Given the description of an element on the screen output the (x, y) to click on. 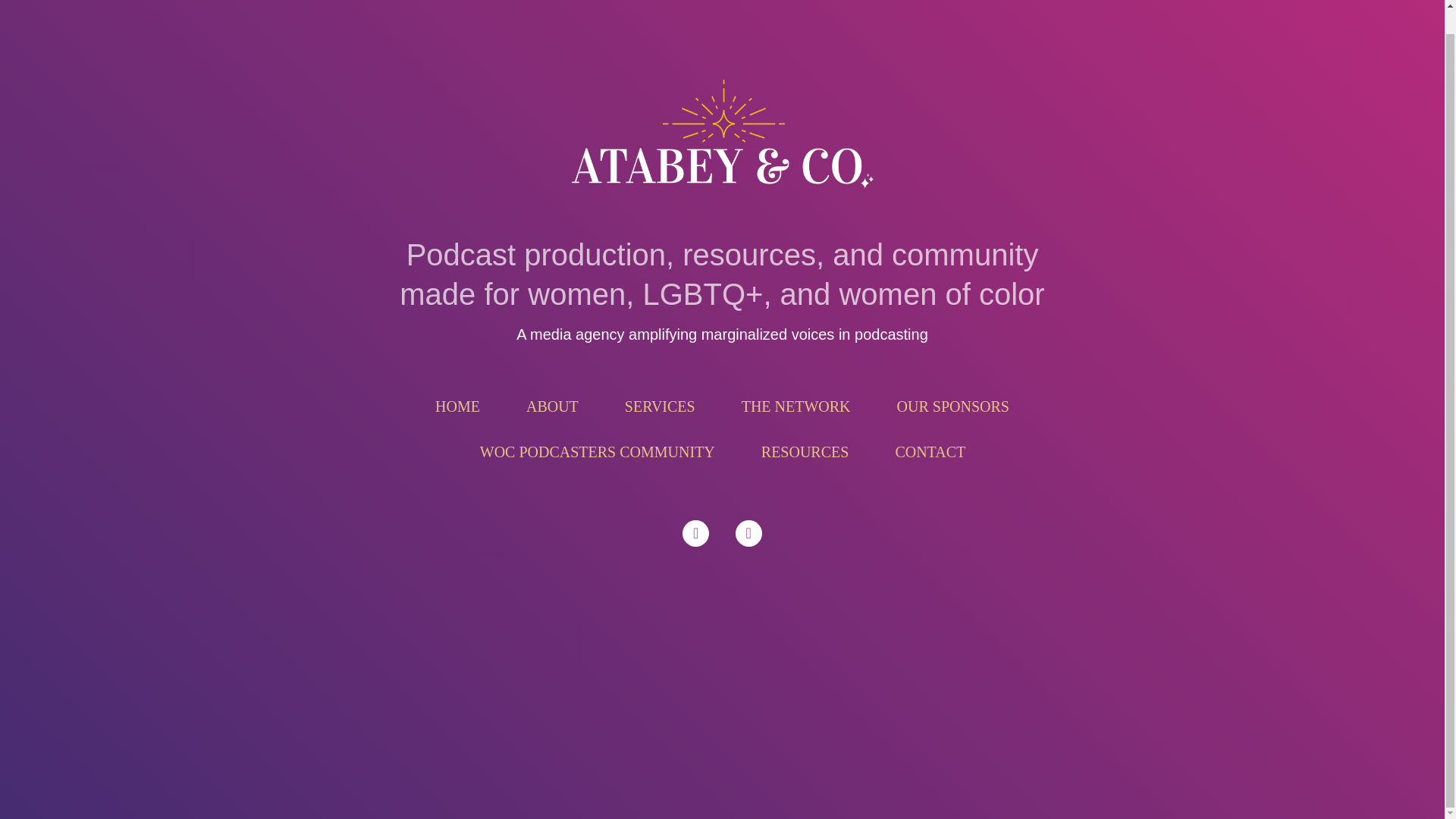
ABOUT (552, 406)
SERVICES (659, 406)
THE NETWORK (796, 406)
HOME (457, 406)
OUR SPONSORS (953, 406)
CONTACT (930, 452)
WOC PODCASTERS COMMUNITY (597, 452)
Primary Logo - White copy (721, 137)
RESOURCES (805, 452)
